Given the description of an element on the screen output the (x, y) to click on. 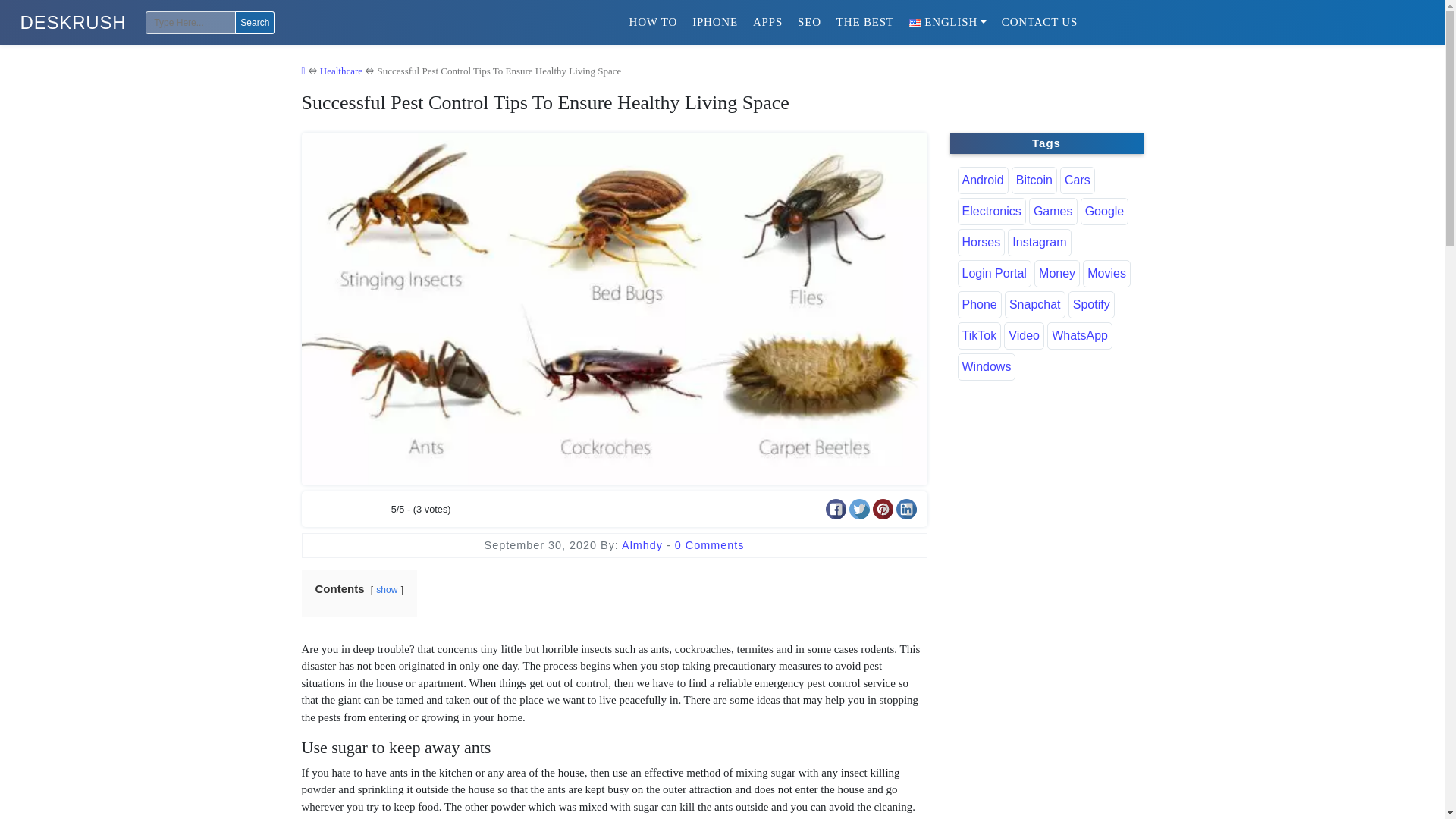
facebook (835, 508)
CONTACT US (1039, 21)
linkedin (906, 508)
SEO (809, 21)
The Best (864, 21)
Contact Us (1039, 21)
HOW TO (653, 21)
THE BEST (864, 21)
APPS (767, 21)
twitter (858, 508)
DESKRUSH (73, 22)
English (947, 21)
ENGLISH (947, 21)
iPhone (714, 21)
pinterest (882, 508)
